Given the description of an element on the screen output the (x, y) to click on. 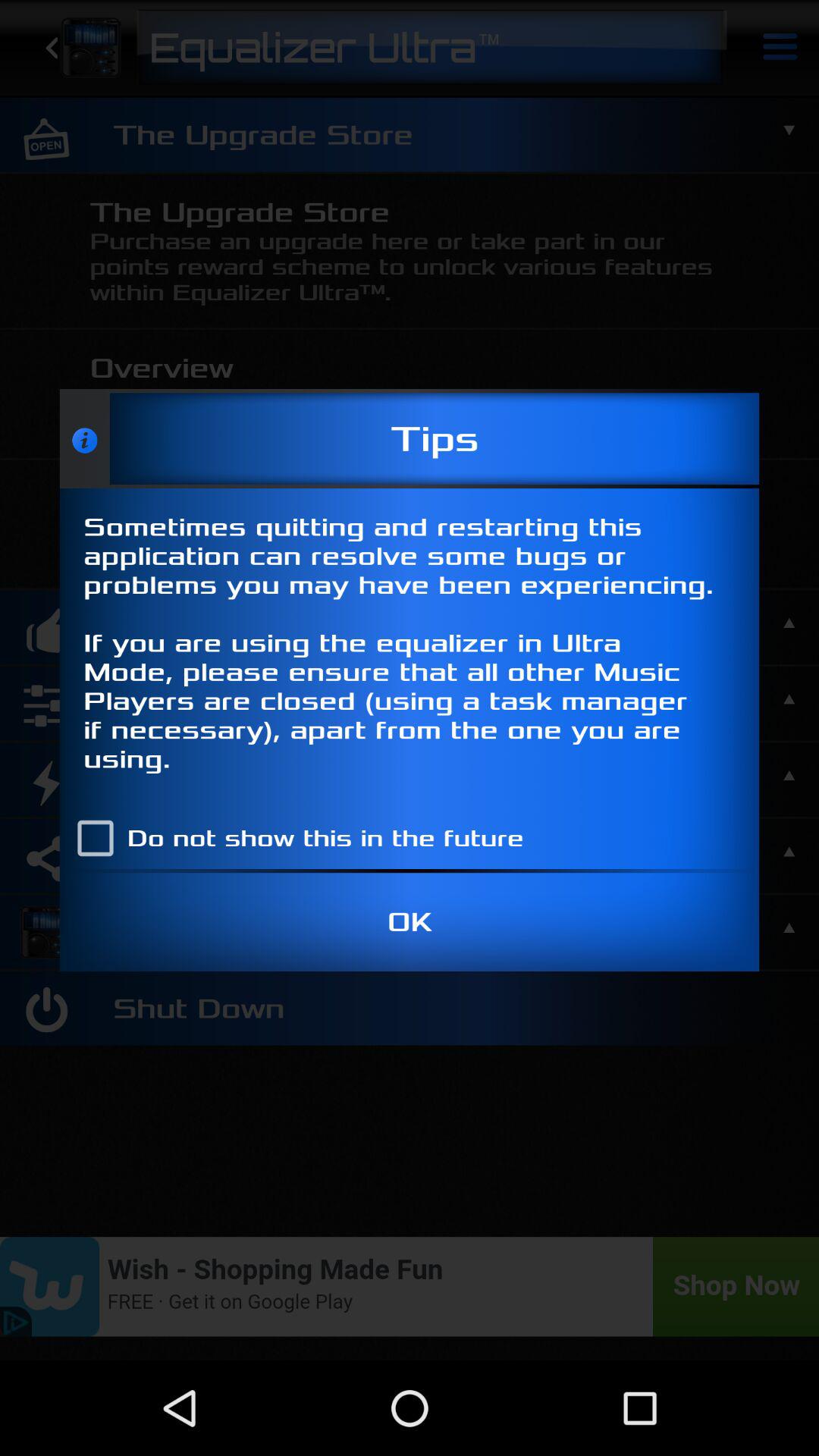
choose the item above the do not show item (409, 647)
